Given the description of an element on the screen output the (x, y) to click on. 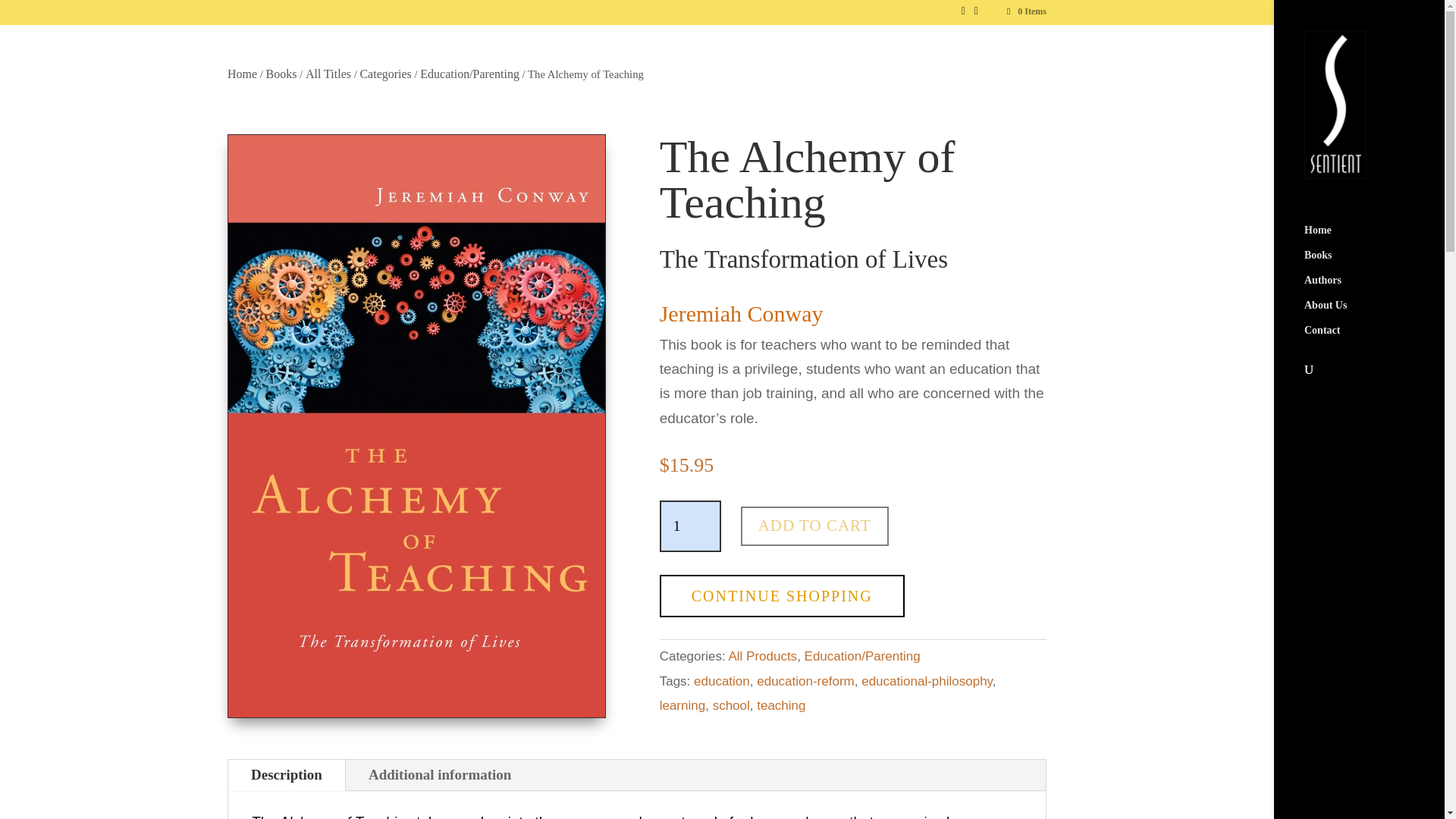
teaching (781, 705)
ADD TO CART (814, 526)
Jeremiah Conway (741, 313)
All Titles (327, 72)
Description (286, 775)
learning (682, 705)
Categories (384, 72)
school (731, 705)
Books (281, 72)
All Products (762, 656)
